Given the description of an element on the screen output the (x, y) to click on. 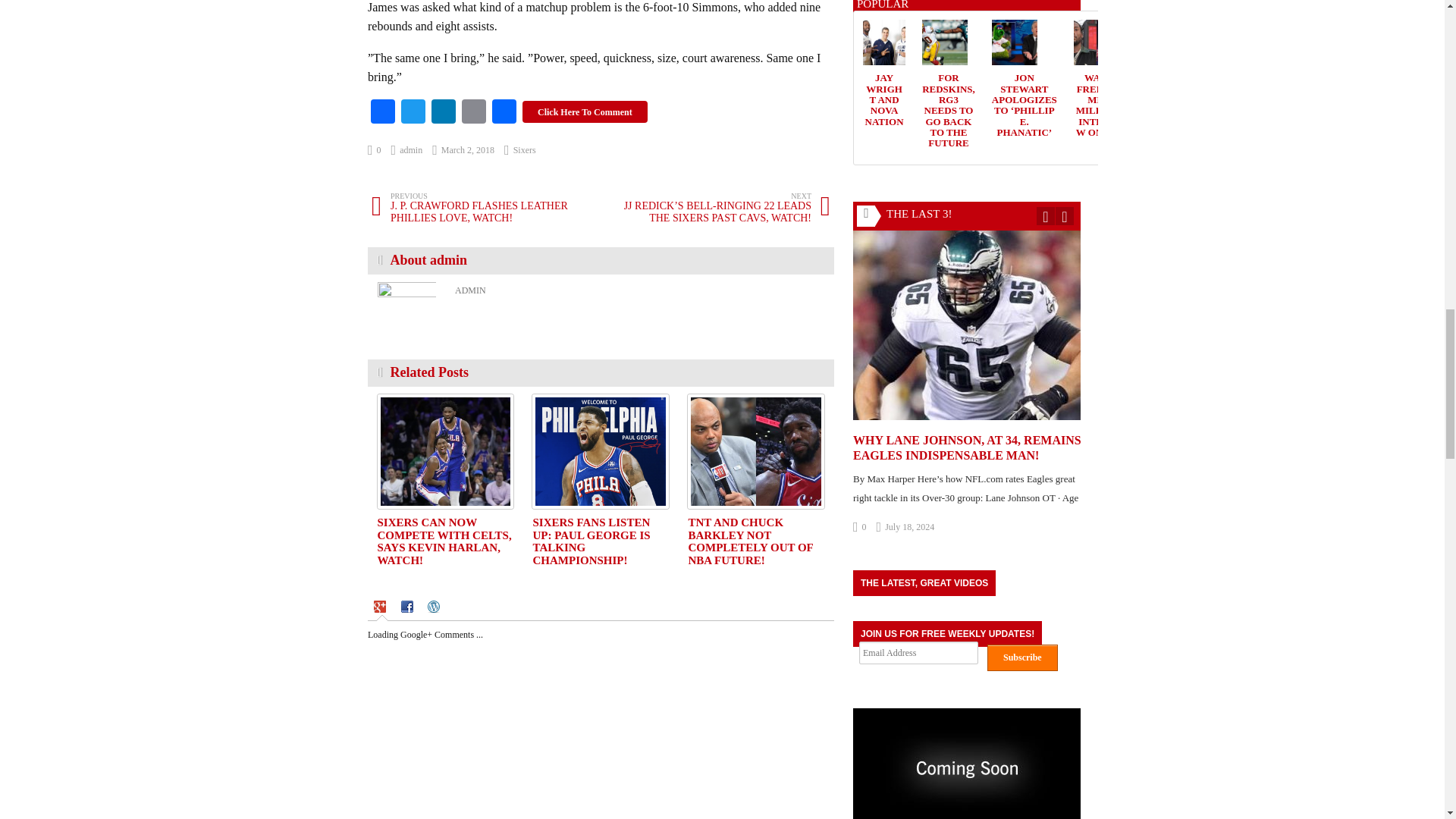
SIXERS CAN NOW COMPETE WITH CELTS, SAYS KEVIN HARLAN, WATCH! (444, 541)
admin (407, 149)
Twitter (412, 113)
TNT AND CHUCK BARKLEY NOT COMPLETELY OUT OF NBA FUTURE! (755, 450)
Share (504, 113)
Facebook (382, 113)
SIXERS FANS LISTEN UP: PAUL GEORGE IS TALKING CHAMPIONSHIP! (600, 450)
Email (473, 113)
SIXERS CAN NOW COMPETE WITH CELTS, SAYS KEVIN HARLAN, WATCH! (445, 450)
Click Here To Comment (584, 111)
LinkedIn (443, 113)
0 (374, 149)
Sixers (524, 149)
Posts by admin (407, 149)
